Given the description of an element on the screen output the (x, y) to click on. 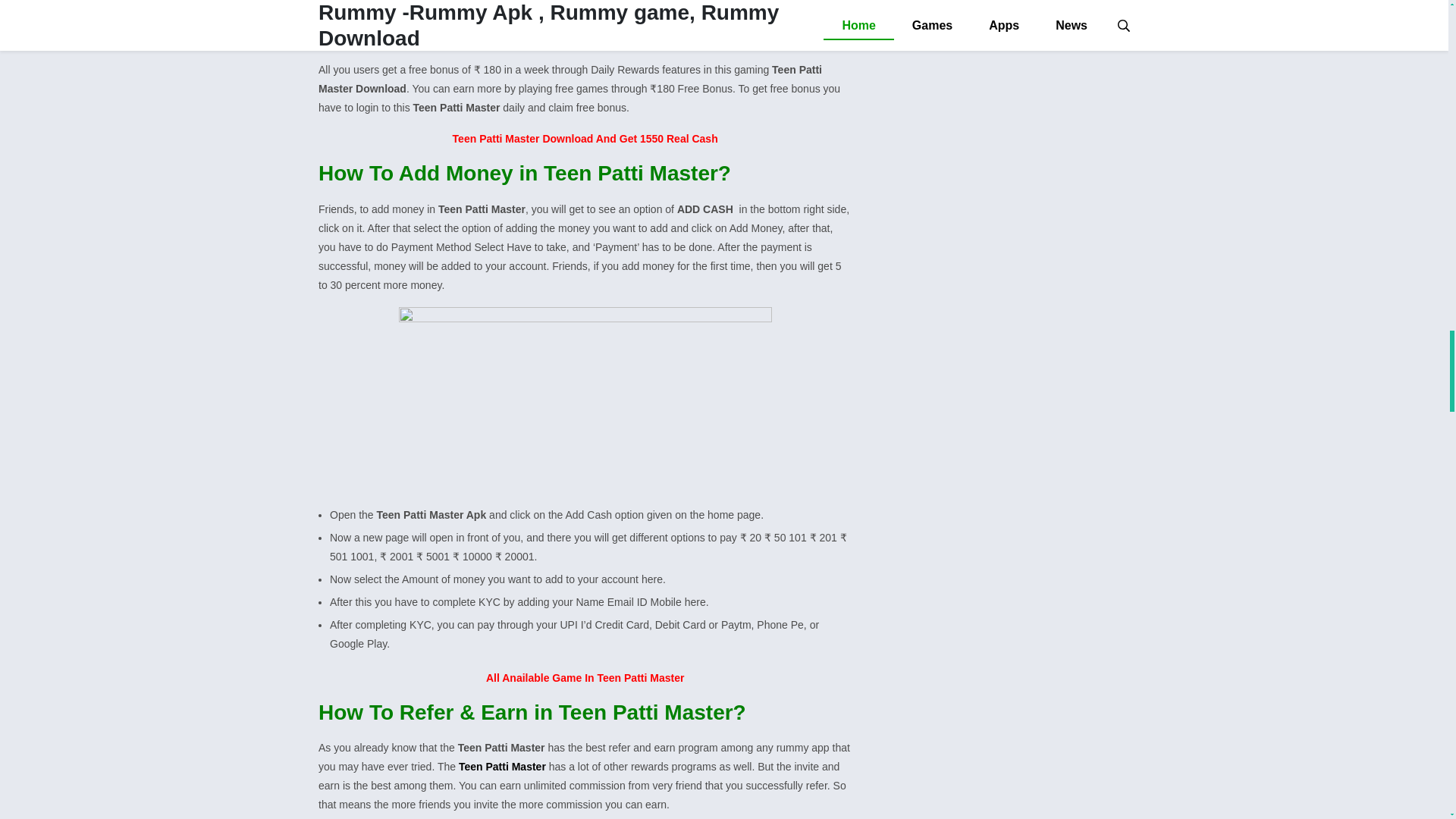
All Anailable Game In Teen Patti Master (585, 677)
Teen Patti Master Download And Get 1550 Real Cash (584, 138)
Teen Patti Master (503, 766)
